Given the description of an element on the screen output the (x, y) to click on. 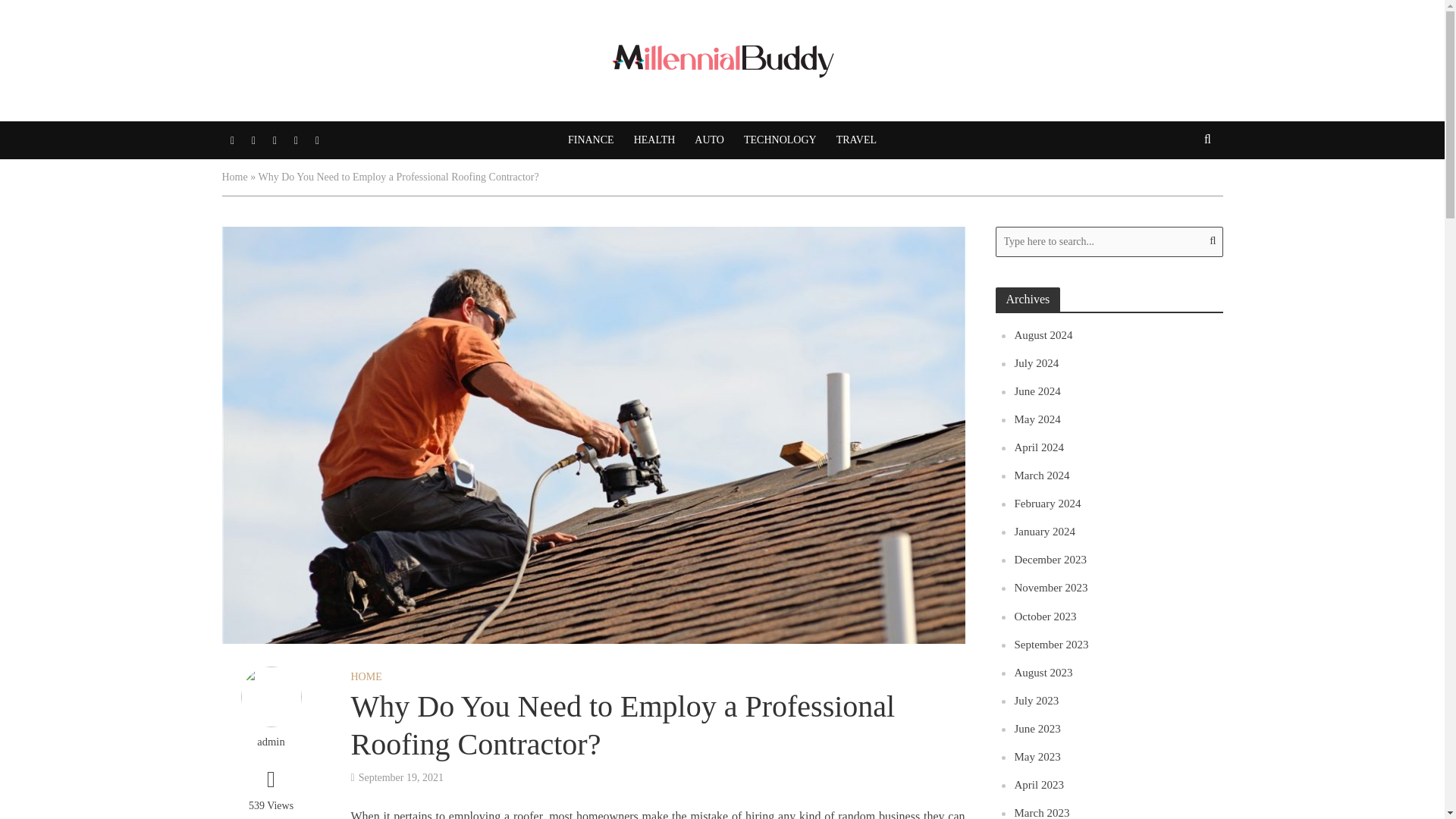
TECHNOLOGY (780, 139)
July 2024 (1036, 363)
admin (270, 741)
TRAVEL (856, 139)
August 2024 (1043, 335)
FINANCE (590, 139)
HOME (365, 678)
HEALTH (654, 139)
AUTO (708, 139)
Home (234, 176)
